Given the description of an element on the screen output the (x, y) to click on. 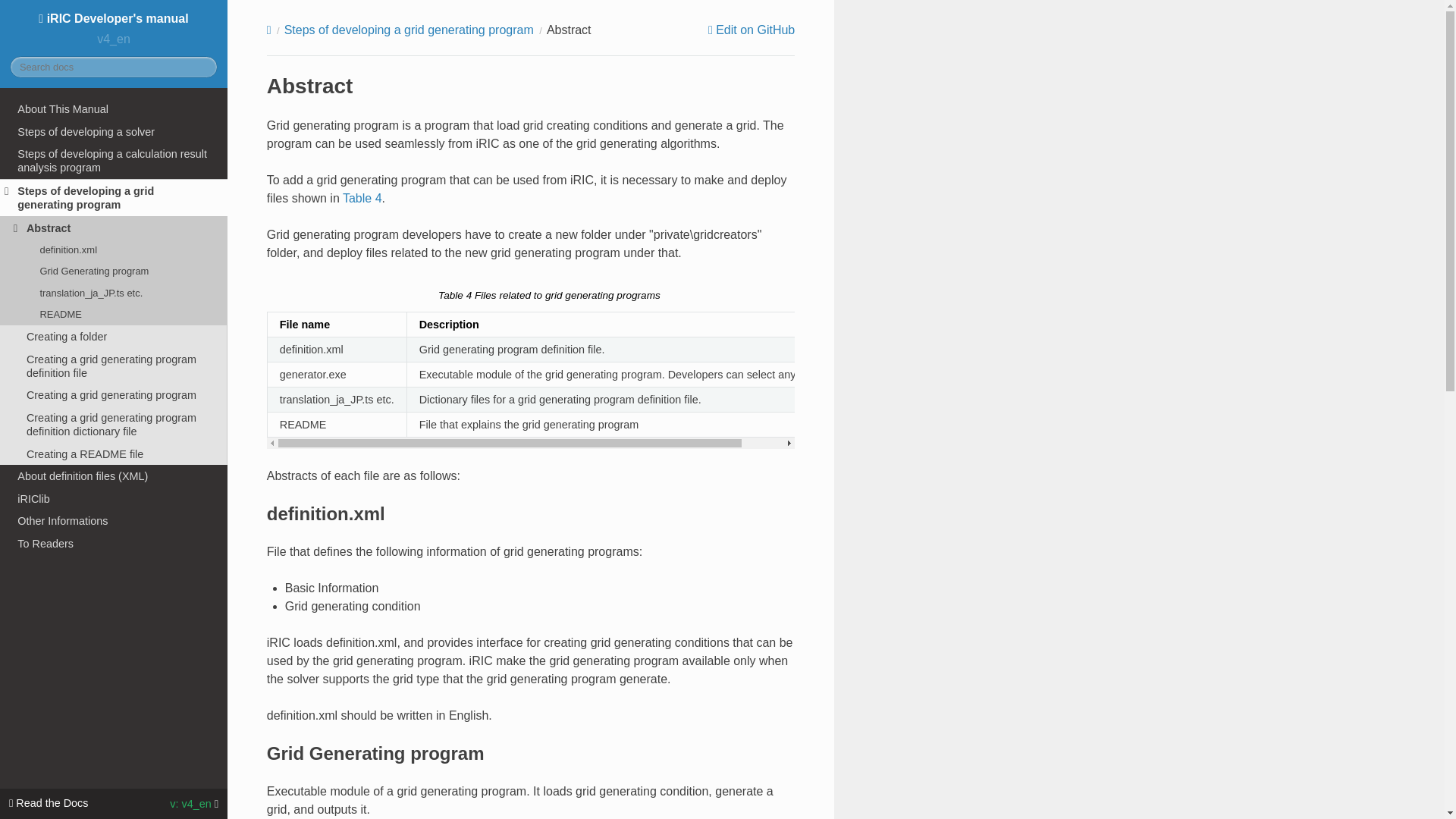
Creating a README file (113, 454)
iRIC Developer's manual (112, 18)
iRIClib (113, 498)
Creating a grid generating program definition file (113, 366)
Other Informations (113, 521)
Creating a grid generating program (113, 395)
Grid Generating program (113, 271)
Table 4 (361, 197)
README (113, 314)
Steps of developing a grid generating program (408, 29)
Edit on GitHub (750, 30)
Creating a folder (113, 336)
About This Manual (113, 108)
Steps of developing a solver (113, 131)
